Given the description of an element on the screen output the (x, y) to click on. 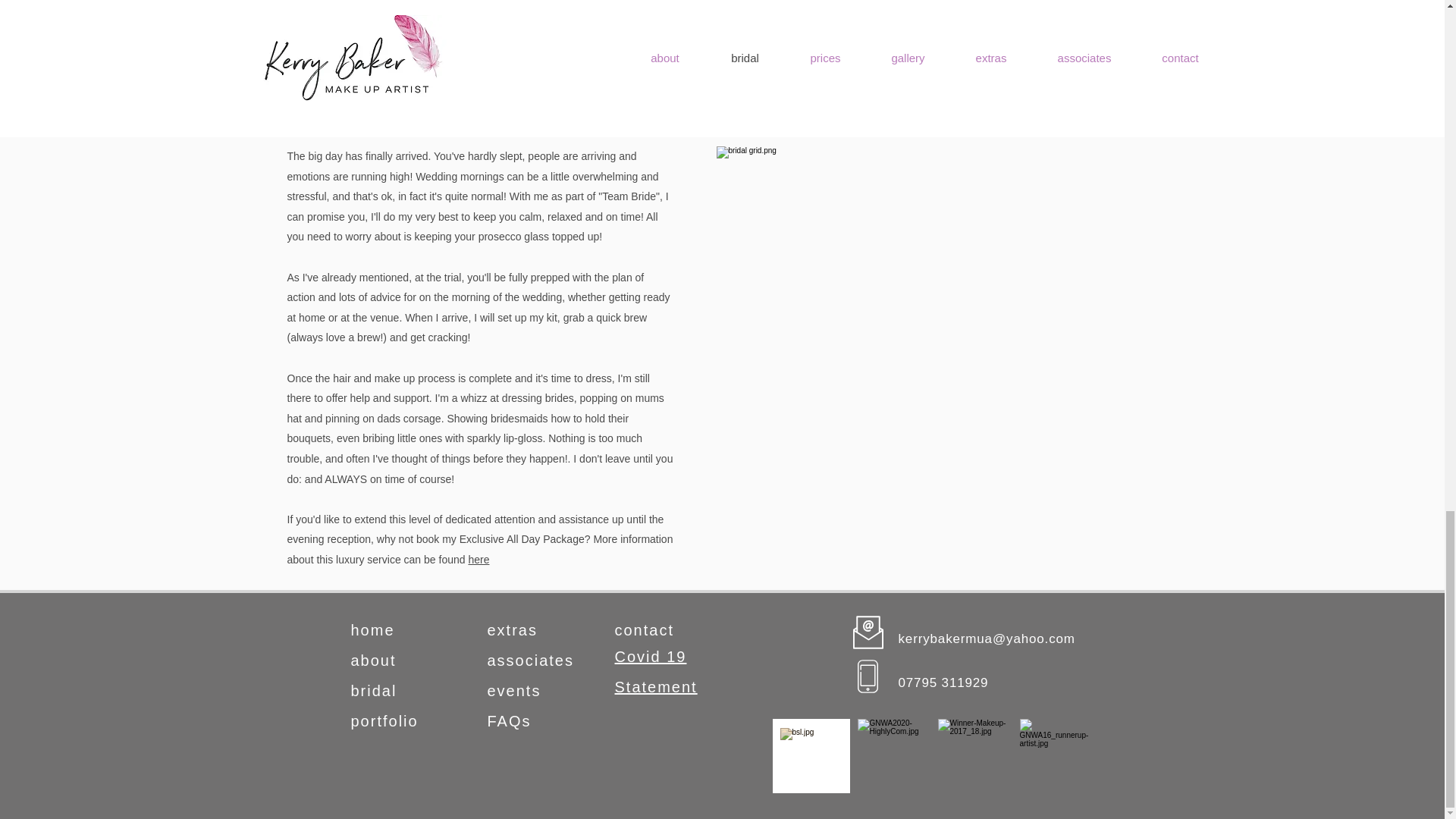
portfolio (383, 720)
home (372, 629)
about (373, 660)
here (478, 559)
FAQs (508, 720)
events (513, 690)
Covid 19 Statement (655, 671)
associates (529, 660)
bridal (373, 690)
extras (511, 629)
